Given the description of an element on the screen output the (x, y) to click on. 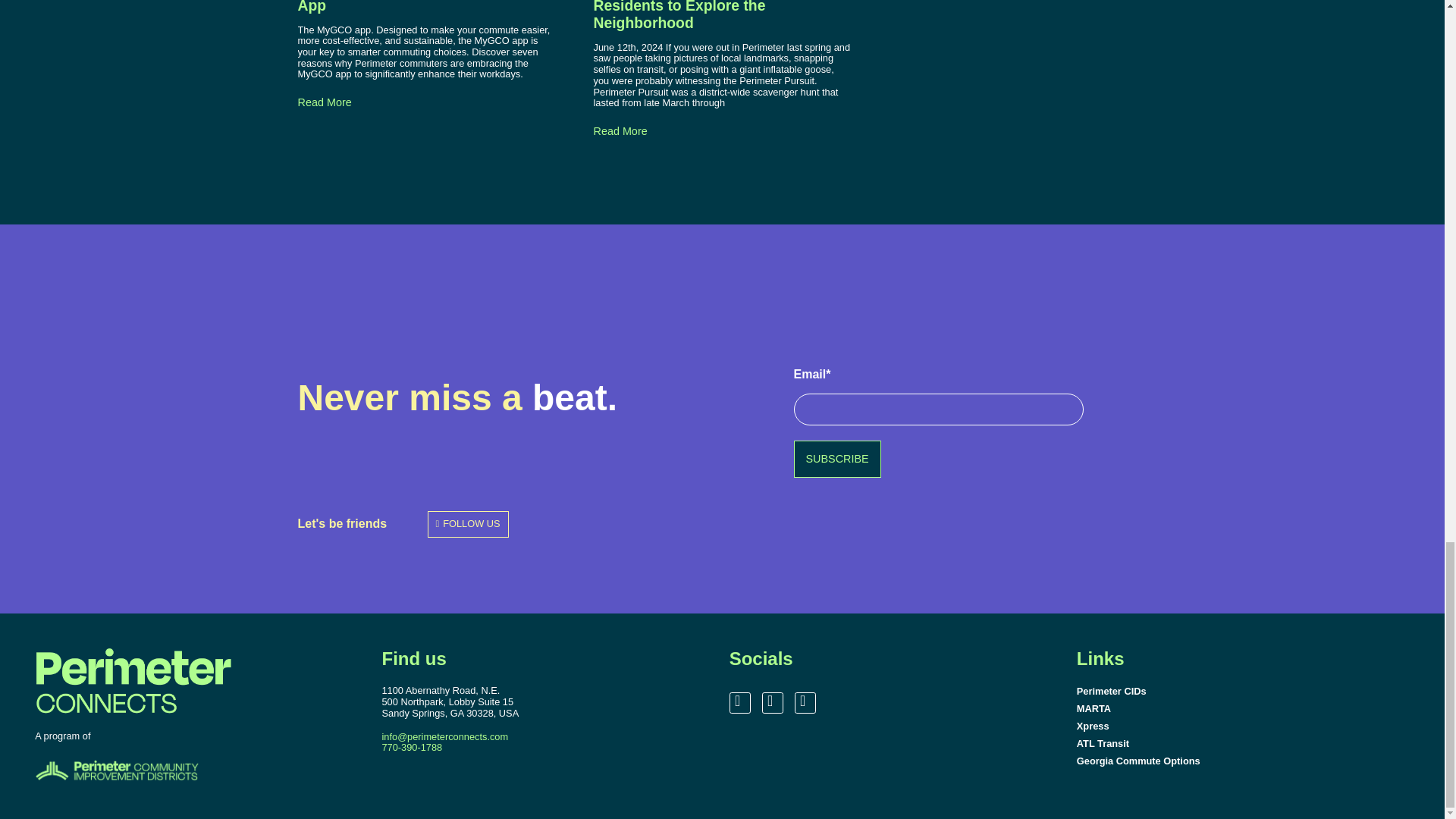
MARTA (1246, 708)
FOLLOW US (468, 524)
SUBSCRIBE (836, 458)
Xpress (1246, 726)
5 Reasons Why Perimeter Commuters Love Using the MyGCO App  (421, 6)
770-390-1788 (411, 747)
Read More (323, 102)
ATL Transit (1246, 743)
Read More (619, 131)
Perimeter CIDs (1246, 690)
